Given the description of an element on the screen output the (x, y) to click on. 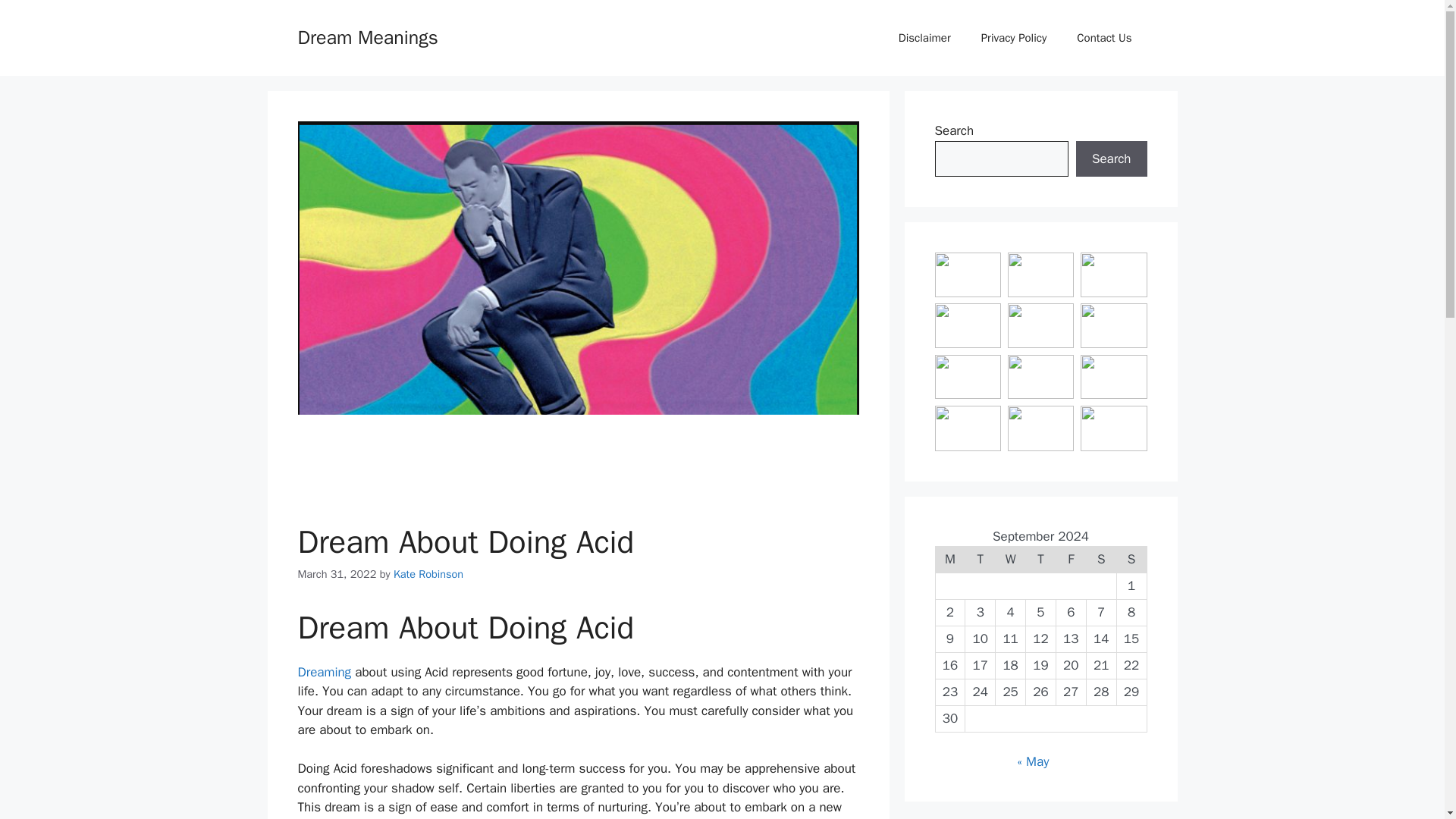
Contact Us (1104, 37)
Monday (949, 560)
Dreaming (323, 672)
Tuesday (980, 560)
Kate Robinson (428, 573)
Disclaimer (924, 37)
View all posts by Kate Robinson (428, 573)
Wednesday (1010, 560)
Thursday (1041, 560)
Dream Meanings (367, 37)
